Given the description of an element on the screen output the (x, y) to click on. 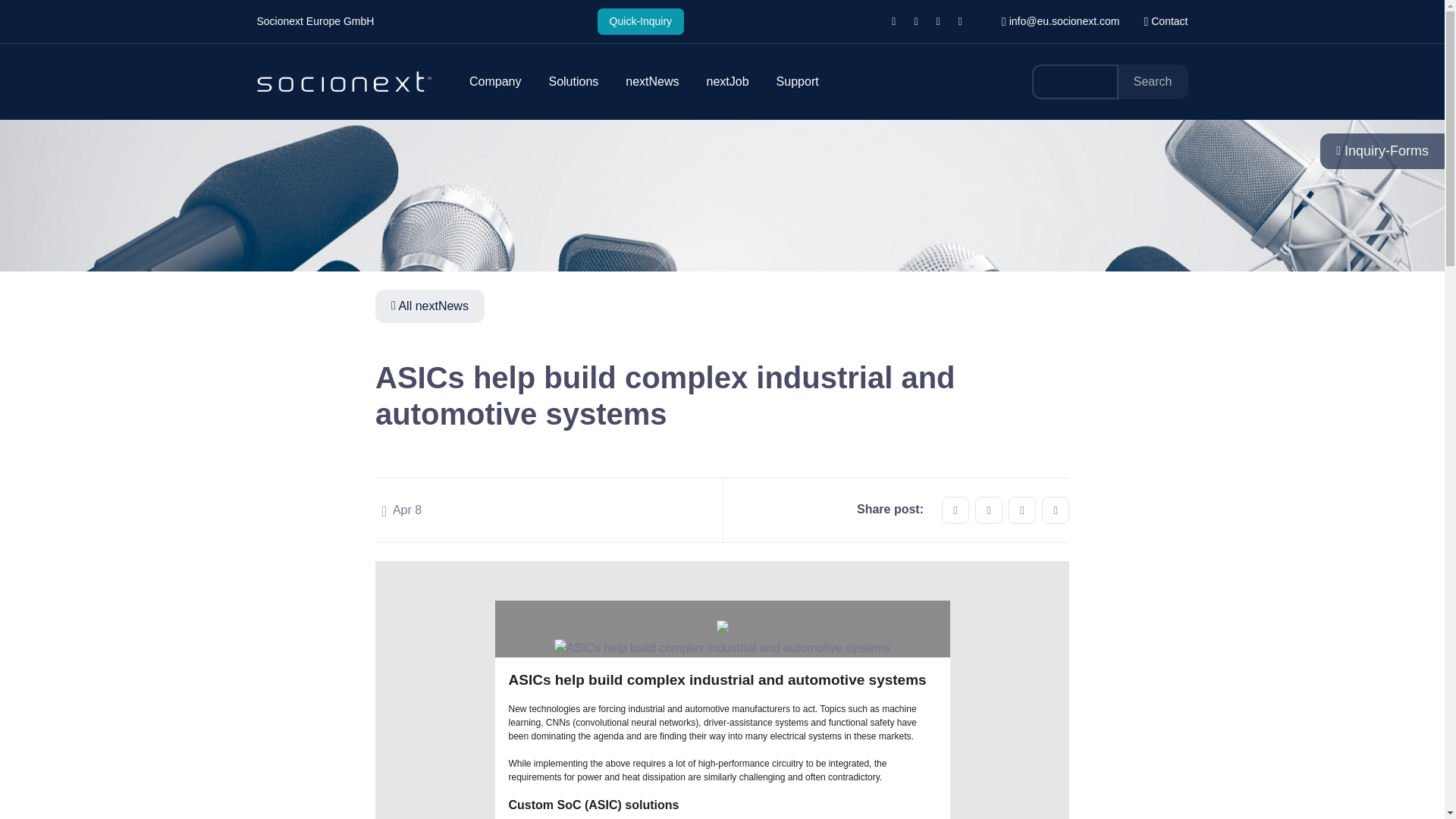
Solutions (572, 81)
Contact (1165, 21)
nextNews (652, 81)
Quick-Inquiry (640, 21)
Company (494, 81)
Search (1153, 81)
nextJob (727, 81)
